Given the description of an element on the screen output the (x, y) to click on. 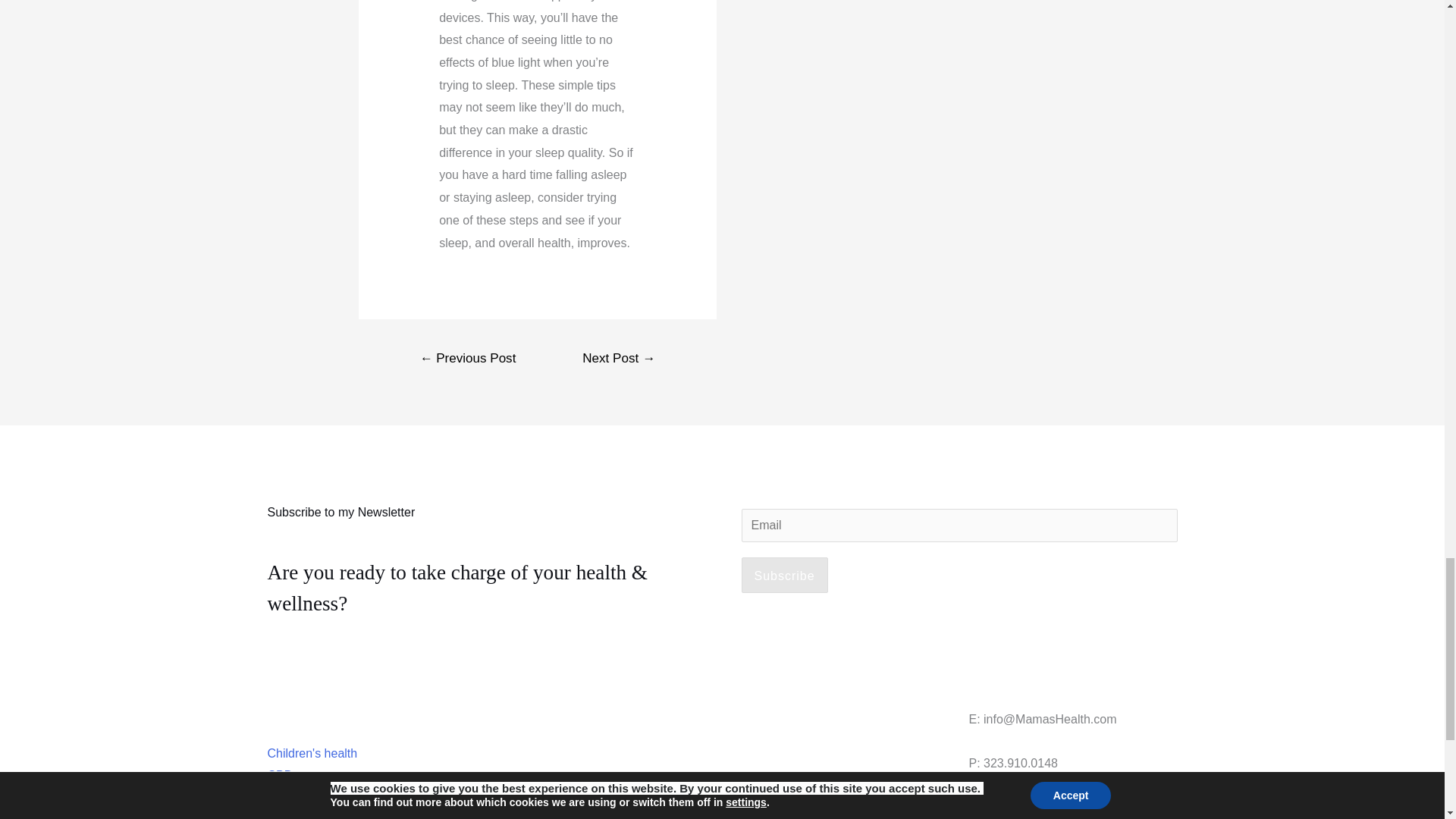
CBD (279, 775)
Children's health (311, 753)
Job search help (309, 797)
Pain relief (293, 816)
Subscribe (784, 575)
